Given the description of an element on the screen output the (x, y) to click on. 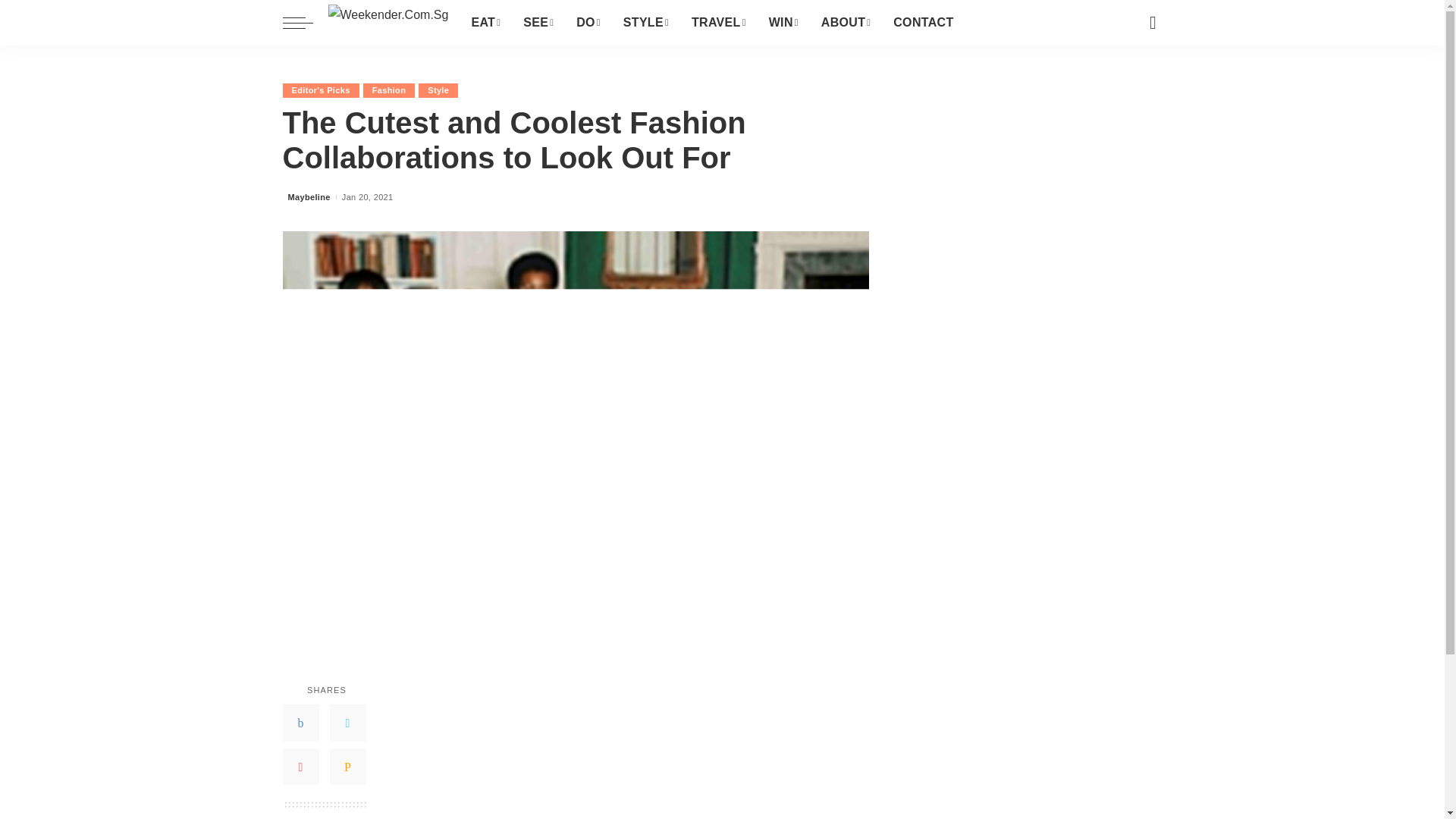
Email (347, 766)
Twitter (347, 722)
Facebook (300, 722)
Pinterest (300, 766)
Weekender.Com.Sg (387, 22)
